Given the description of an element on the screen output the (x, y) to click on. 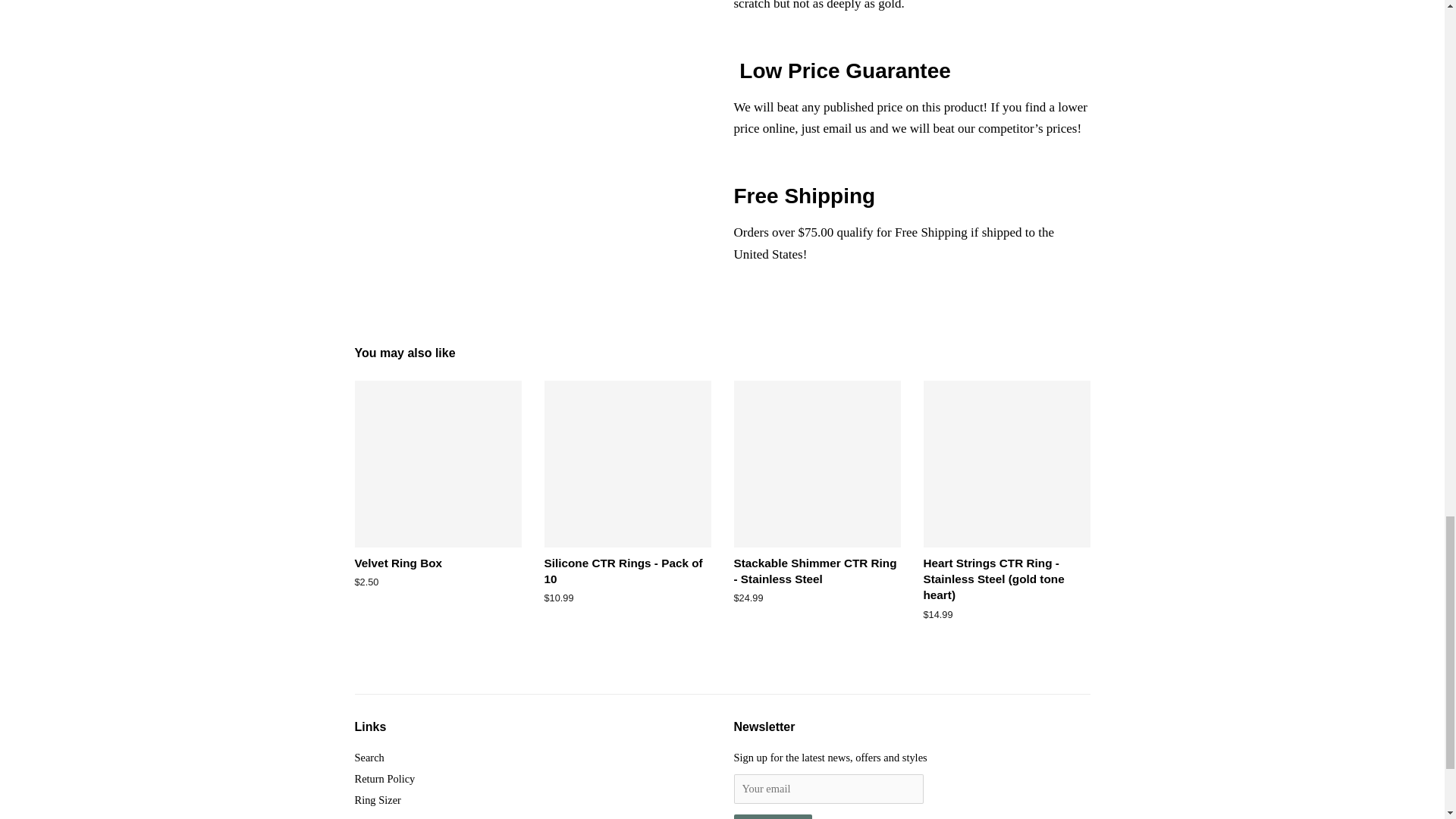
Subscribe (772, 816)
